Given the description of an element on the screen output the (x, y) to click on. 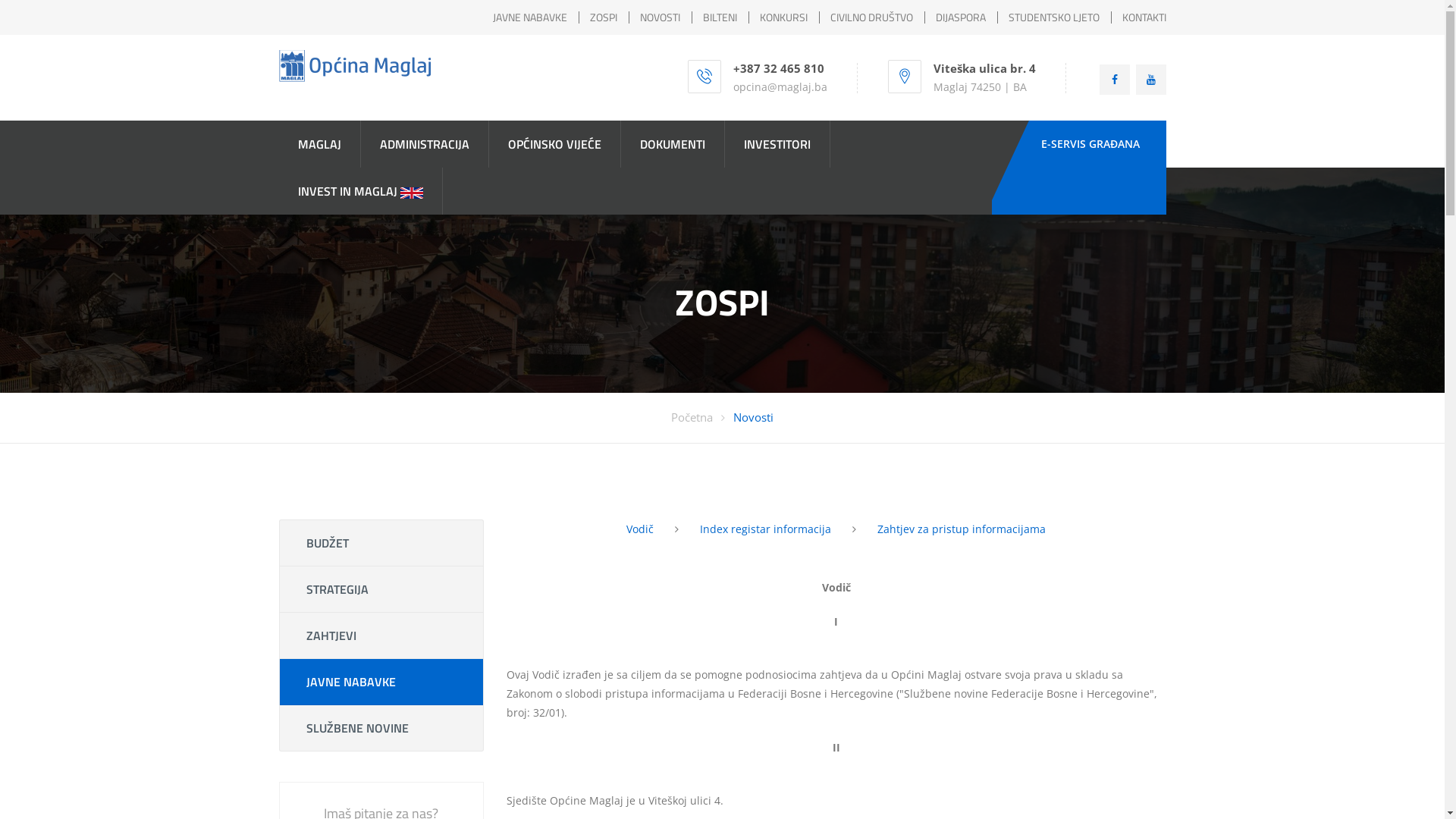
JAVNE NABAVKE Element type: text (380, 681)
KONKURSI Element type: text (783, 17)
STUDENTSKO LJETO Element type: text (1053, 17)
STRATEGIJA Element type: text (380, 588)
DOKUMENTI Element type: text (671, 143)
NOVOSTI Element type: text (660, 17)
Novosti Element type: text (753, 416)
Home Element type: hover (354, 65)
Index registar informacija Element type: text (765, 528)
JAVNE NABAVKE Element type: text (529, 17)
DIJASPORA Element type: text (960, 17)
opcina@maglaj.ba Element type: text (779, 86)
KONTAKTI Element type: text (1144, 17)
BILTENI Element type: text (719, 17)
Zahtjev za pristup informacijama Element type: text (961, 528)
ZOSPI Element type: text (603, 17)
ZAHTJEVI Element type: text (380, 635)
MAGLAJ Element type: text (319, 143)
INVEST IN MAGLAJ Element type: text (360, 190)
ADMINISTRACIJA Element type: text (424, 143)
INVESTITORI Element type: text (776, 143)
